Given the description of an element on the screen output the (x, y) to click on. 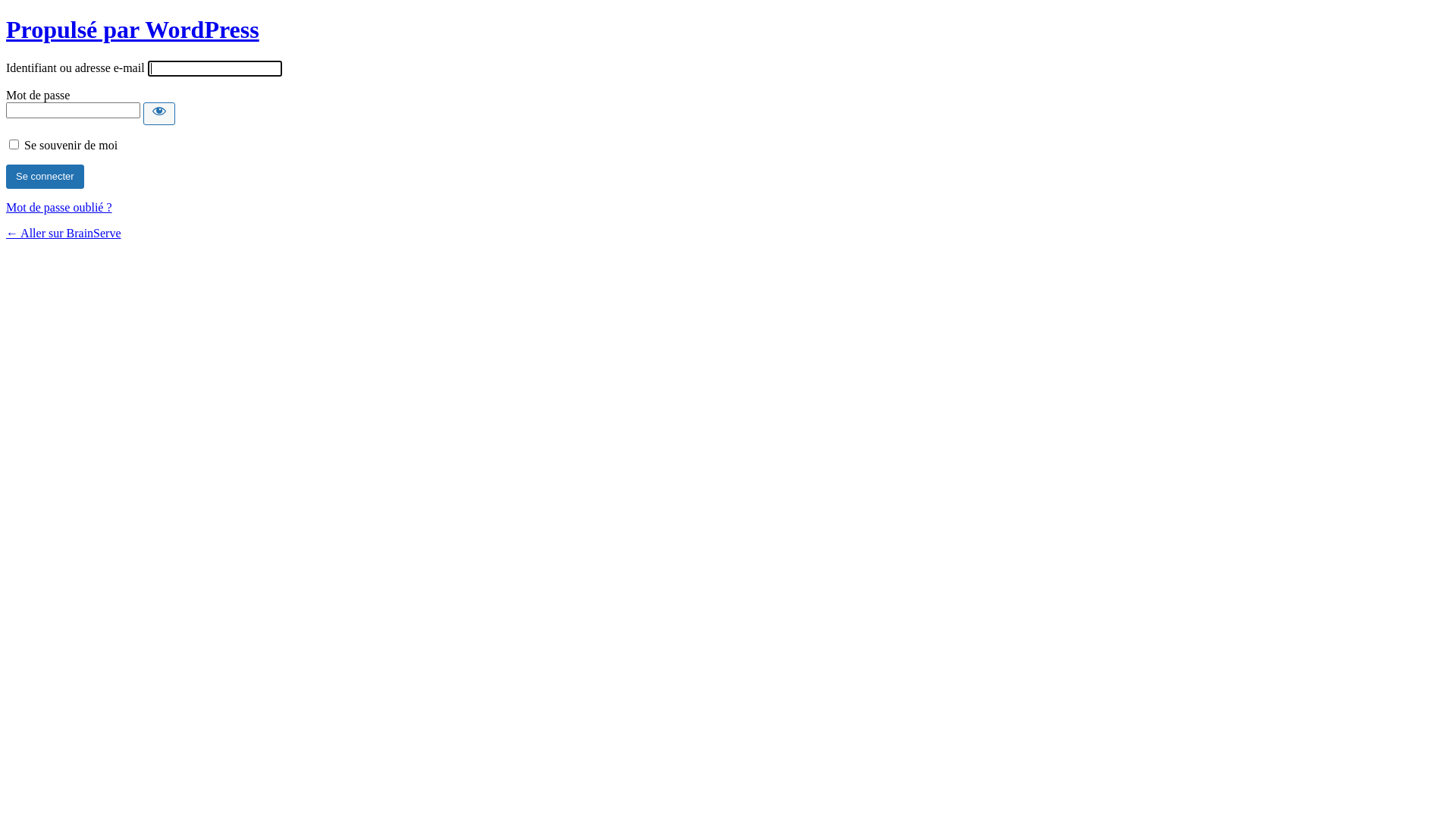
Se connecter Element type: text (45, 176)
